Given the description of an element on the screen output the (x, y) to click on. 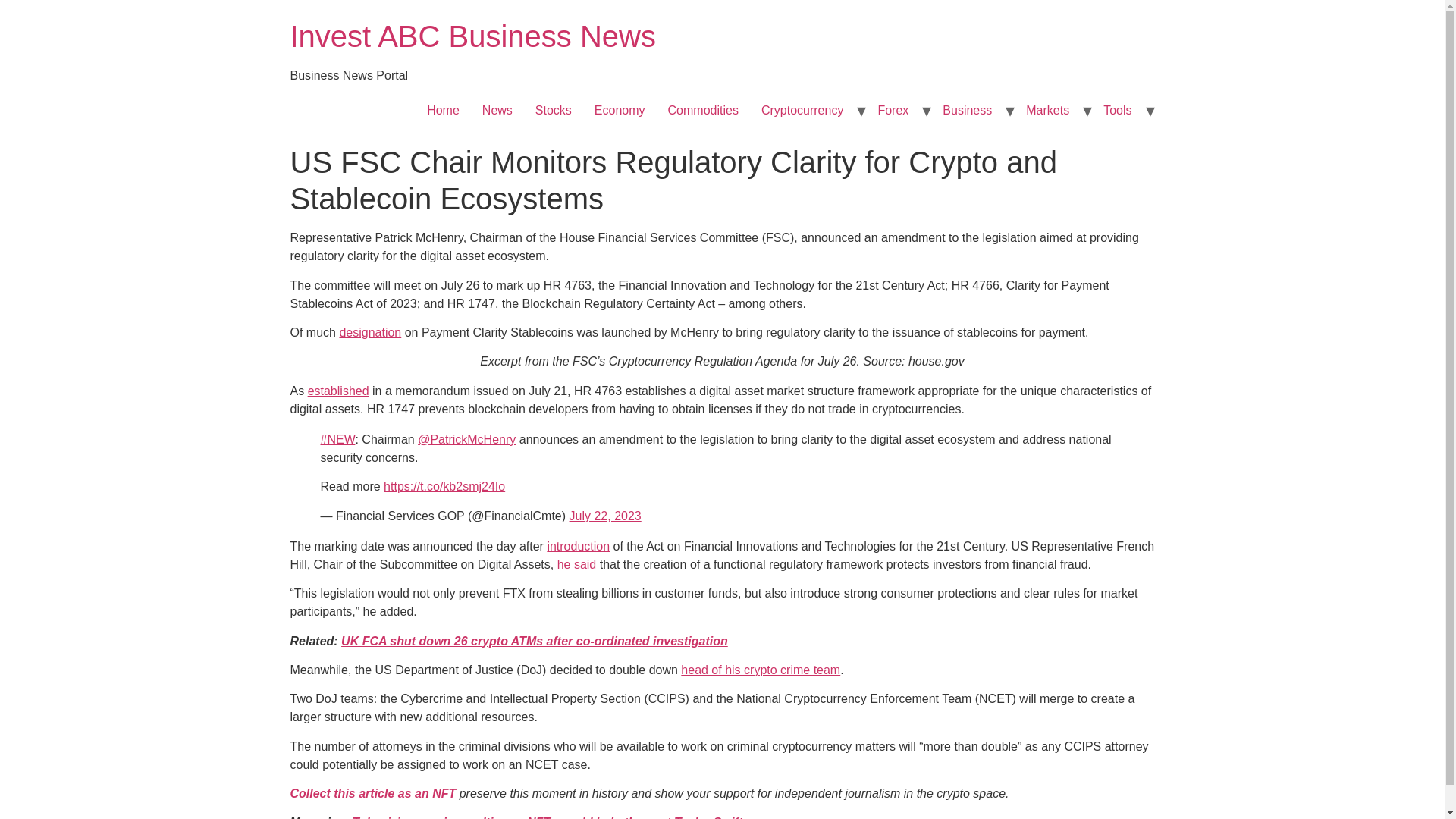
Home (442, 110)
Tools (1117, 110)
Invest ABC Business News (472, 36)
Forex (893, 110)
Economy (619, 110)
Home (472, 36)
Stocks (553, 110)
Commodities (702, 110)
Cryptocurrency (801, 110)
News (497, 110)
